Given the description of an element on the screen output the (x, y) to click on. 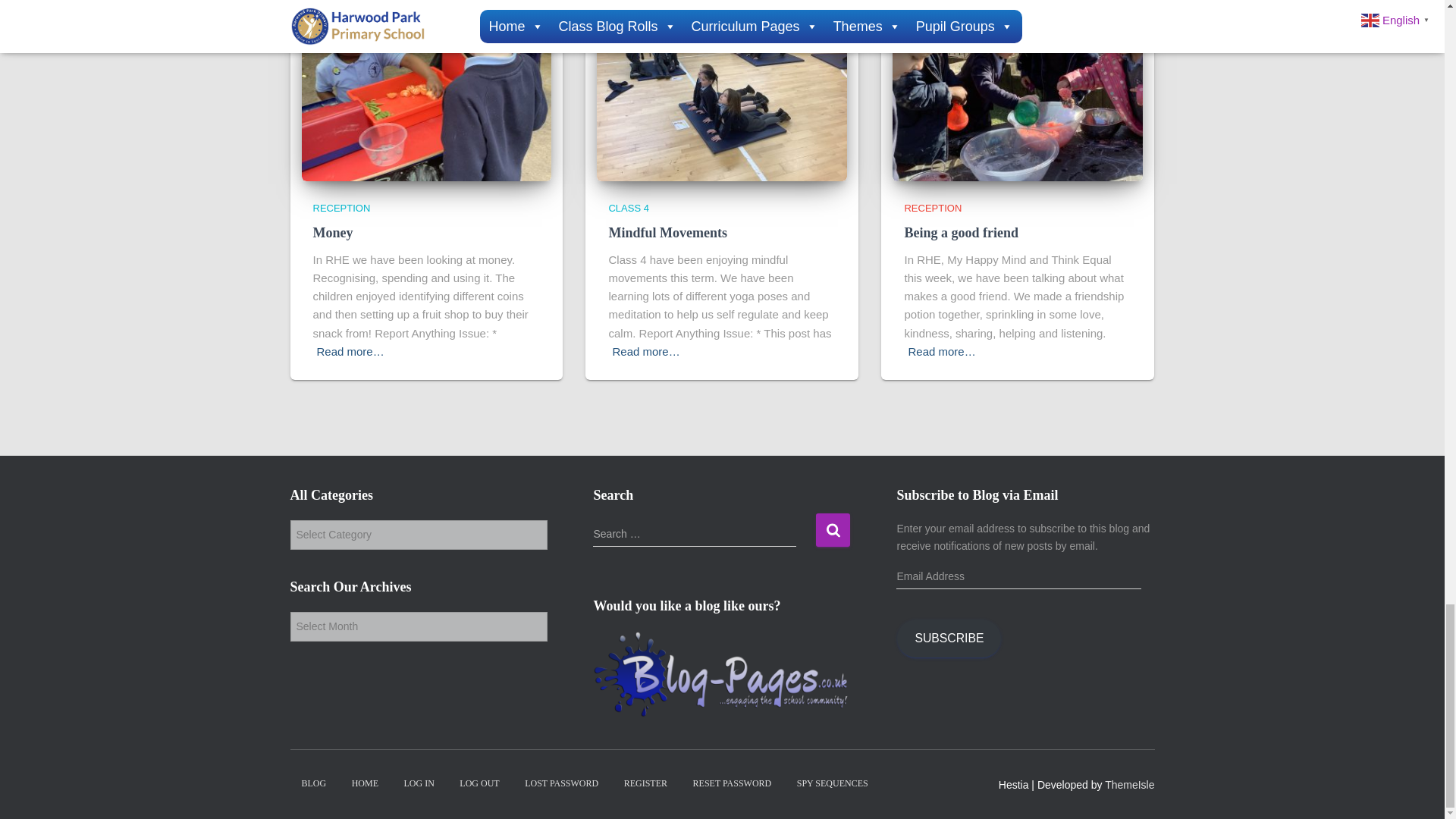
Money (426, 96)
Search (832, 529)
View all posts in Reception (932, 207)
Being a good friend (1017, 96)
View all posts in Class 4 (627, 207)
View all posts in Reception (341, 207)
Money (332, 232)
Search (832, 529)
Being a good friend (960, 232)
Mindful Movements (667, 232)
Mindful Movements (721, 96)
